Given the description of an element on the screen output the (x, y) to click on. 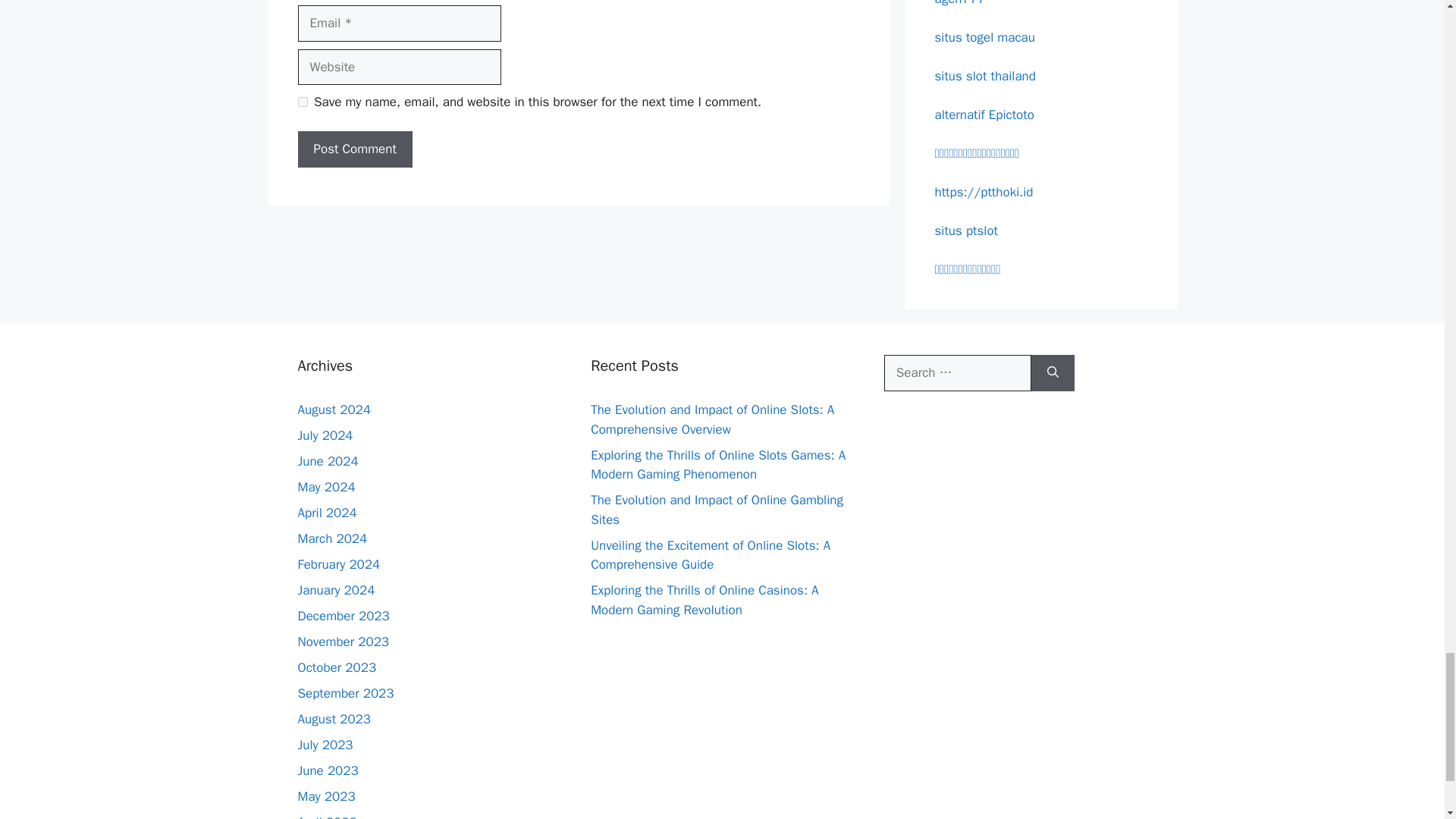
Post Comment (354, 149)
yes (302, 102)
Search for: (956, 372)
Post Comment (354, 149)
